Given the description of an element on the screen output the (x, y) to click on. 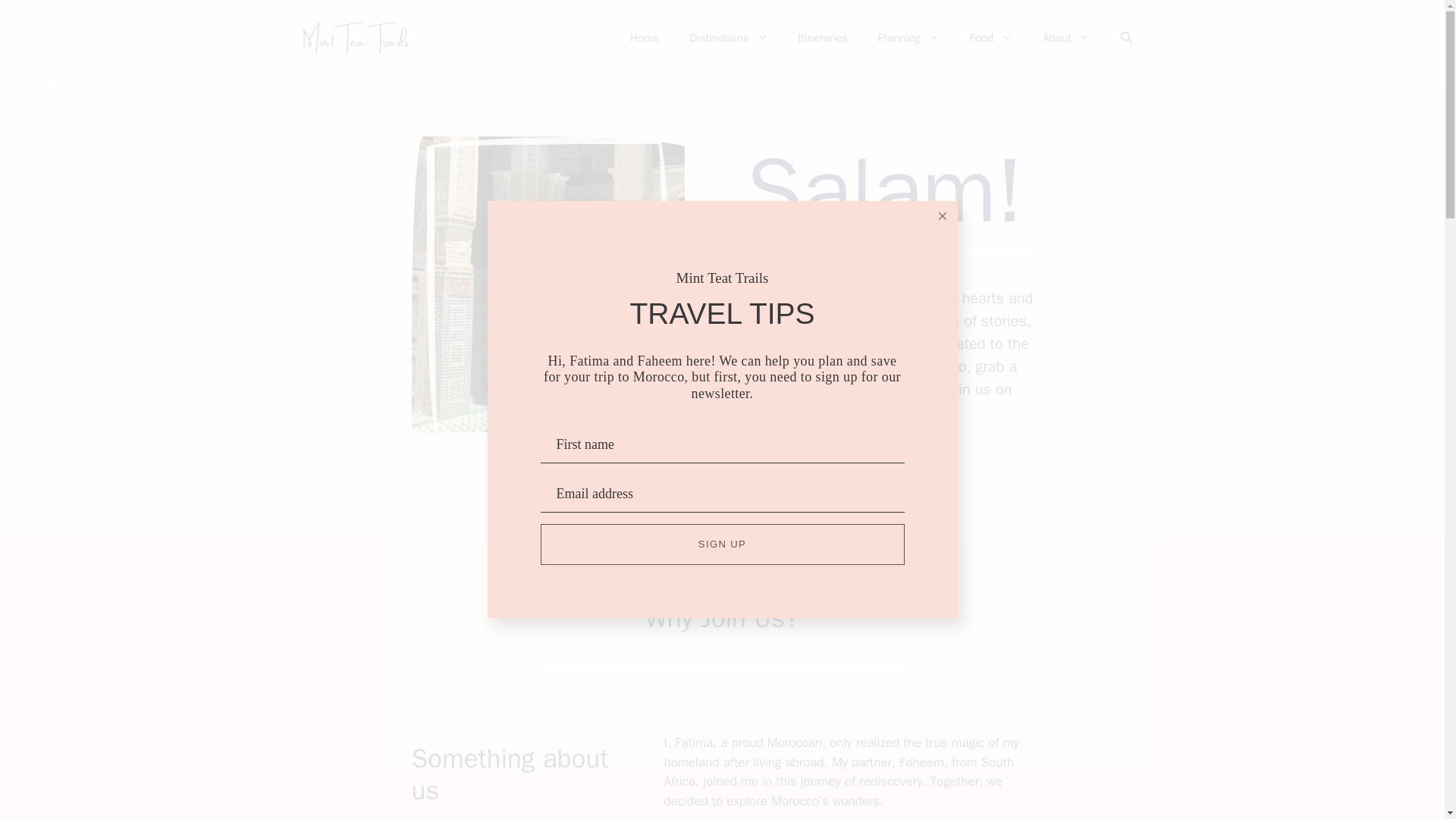
About (1066, 37)
Planning (908, 37)
Food (991, 37)
Distinations (728, 37)
Home (644, 37)
Itineraries (823, 37)
